Given the description of an element on the screen output the (x, y) to click on. 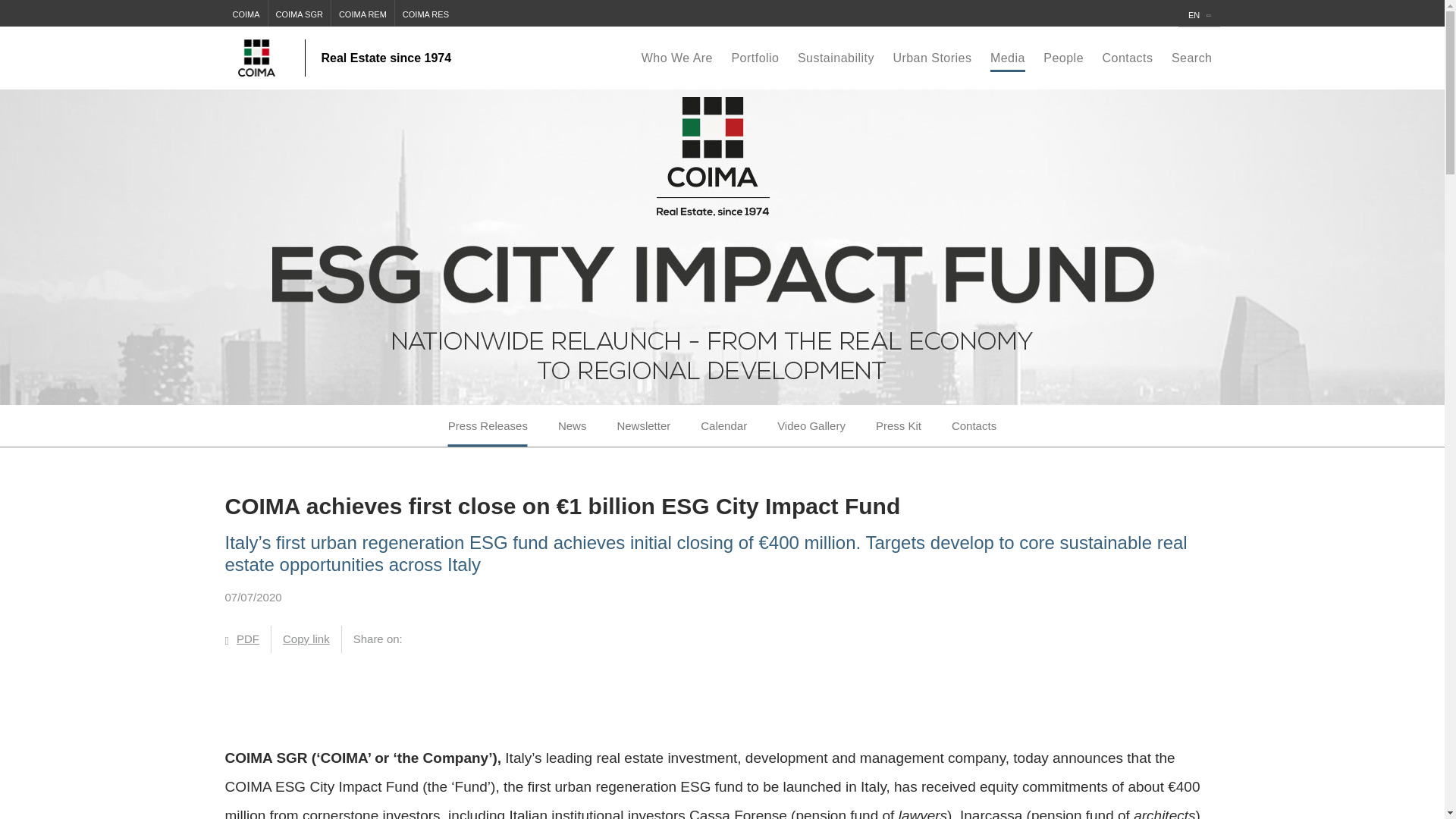
EN (1198, 13)
Who We Are (676, 57)
COIMA (245, 13)
Contacts (1127, 57)
Sustainability (836, 57)
COIMA SGR (298, 13)
Urban Stories (931, 57)
Portfolio (754, 57)
COIMA RES (425, 13)
COIMA REM (362, 13)
